Given the description of an element on the screen output the (x, y) to click on. 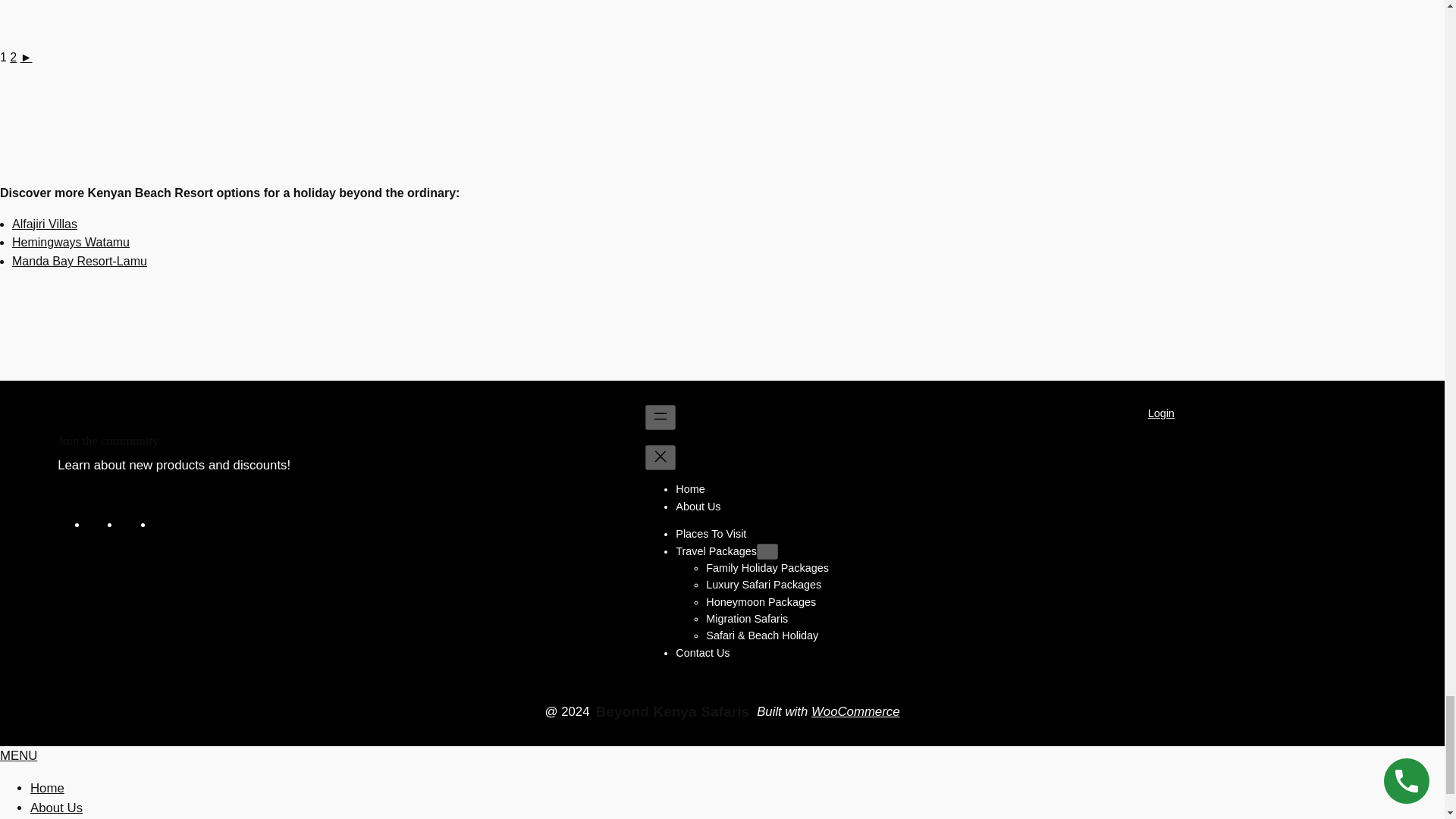
Alfajiri Villas (44, 223)
Hemingways Watamu (70, 241)
Instagram (162, 524)
Facebook (96, 524)
Manda Bay Resort-Lamu (79, 260)
X (129, 524)
